Given the description of an element on the screen output the (x, y) to click on. 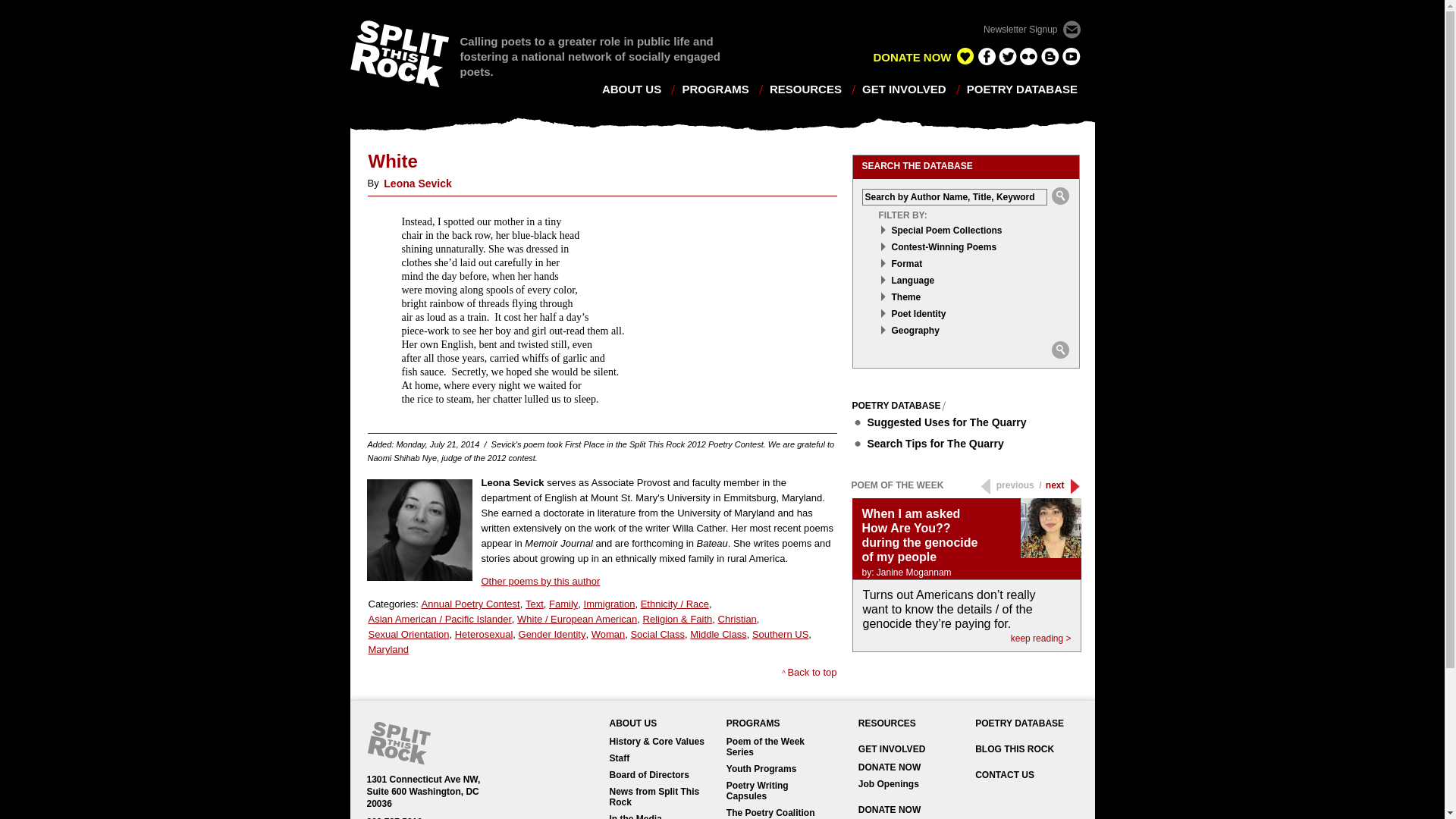
twitter (1006, 55)
flickr (1027, 55)
edelight (964, 55)
Newsletter Signup (1032, 29)
blogger (1049, 55)
PROGRAMS (714, 88)
POETRY DATABASE (1021, 88)
submit (1059, 349)
GET INVOLVED (903, 88)
facebook (985, 55)
submit (1059, 195)
RESOURCES (805, 88)
ABOUT US (631, 88)
youtube (1070, 55)
